Given the description of an element on the screen output the (x, y) to click on. 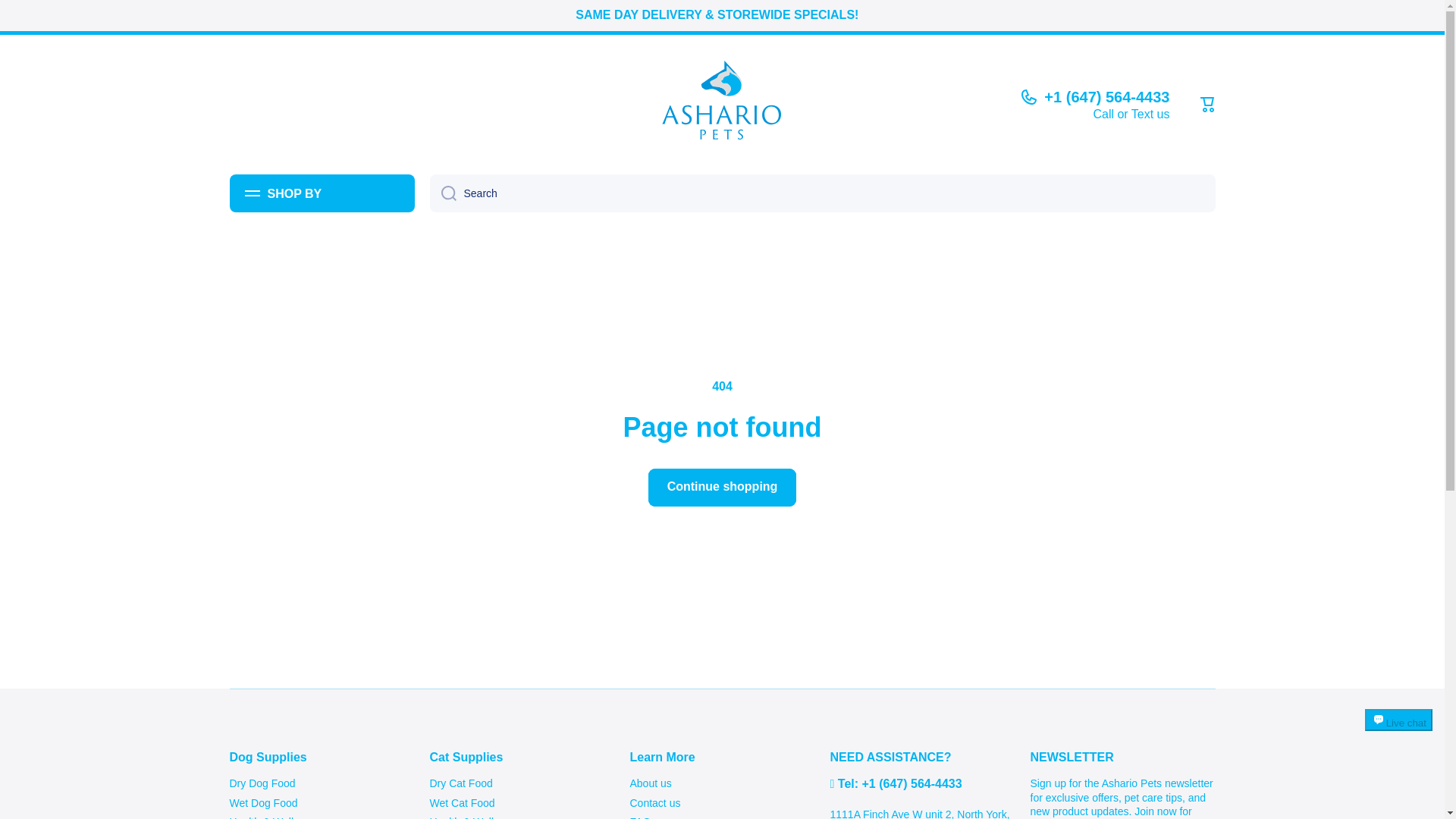
Wet Dog Food (262, 800)
Cart (1206, 104)
Shopify online store chat (1398, 733)
Dry Dog Food (261, 780)
Continue shopping (721, 487)
